Given the description of an element on the screen output the (x, y) to click on. 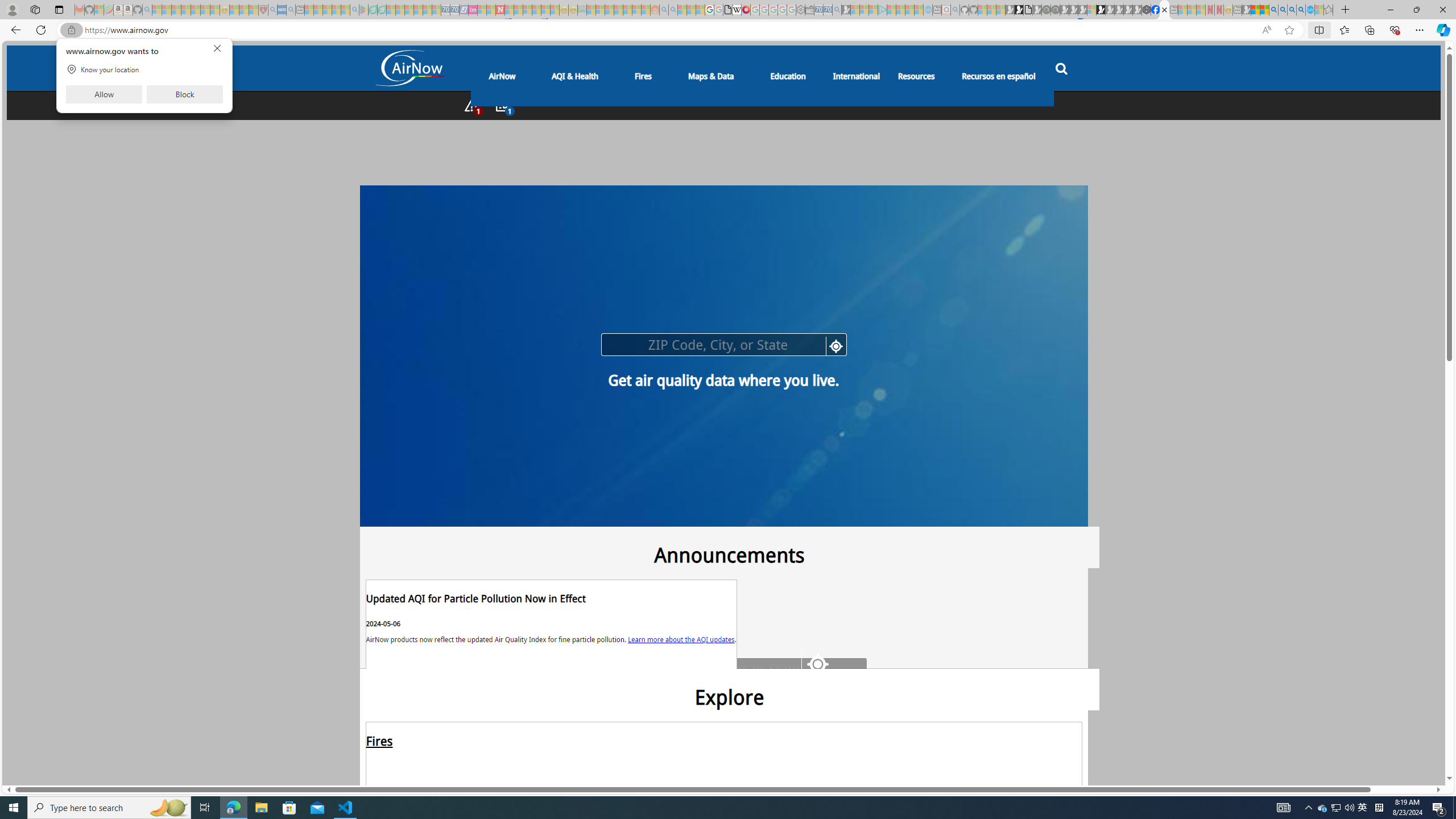
Air Now Logo (408, 69)
